Given the description of an element on the screen output the (x, y) to click on. 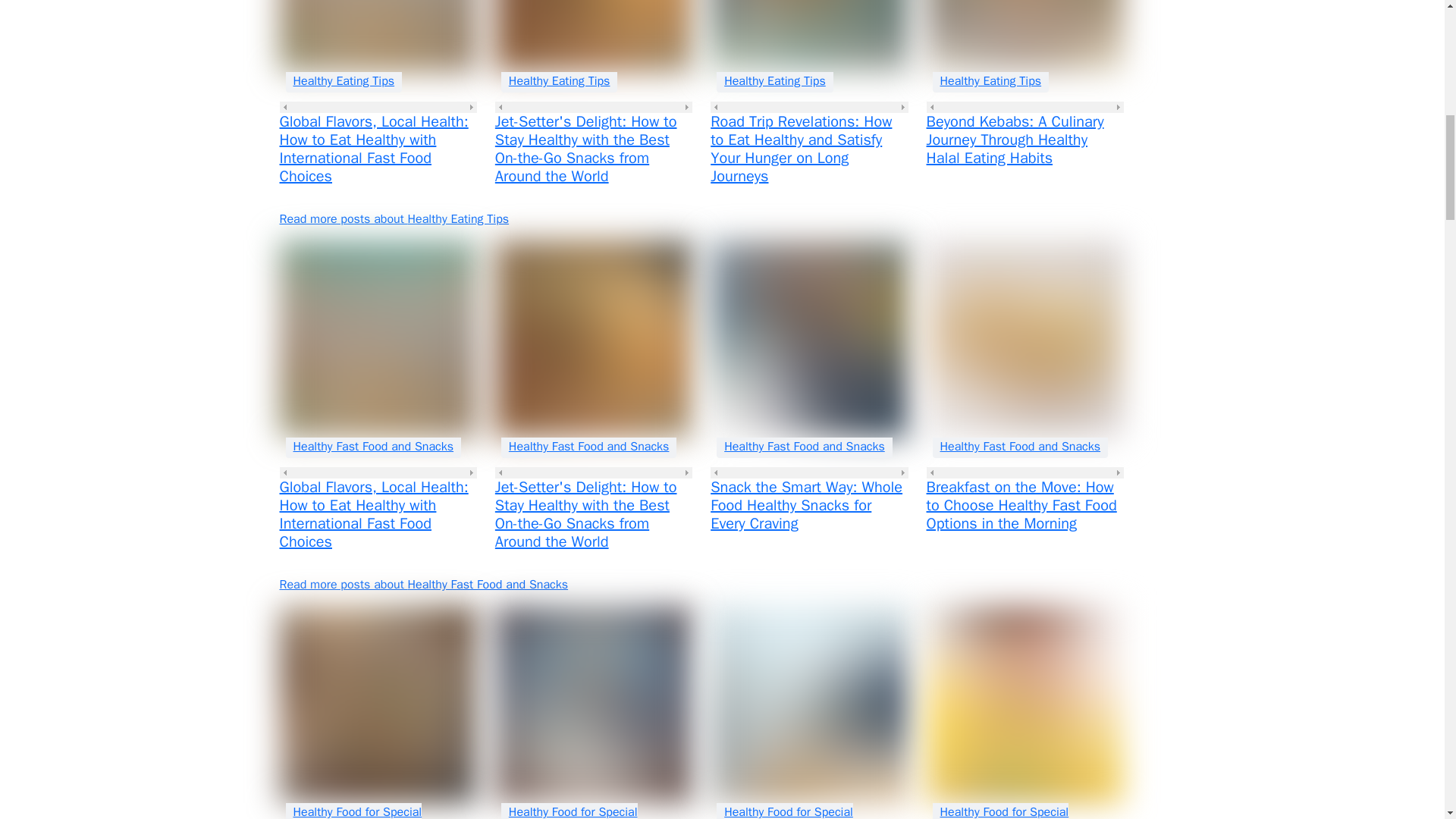
Healthy Eating Tips (774, 80)
Healthy Eating Tips (558, 80)
Healthy Eating Tips (343, 80)
